Given the description of an element on the screen output the (x, y) to click on. 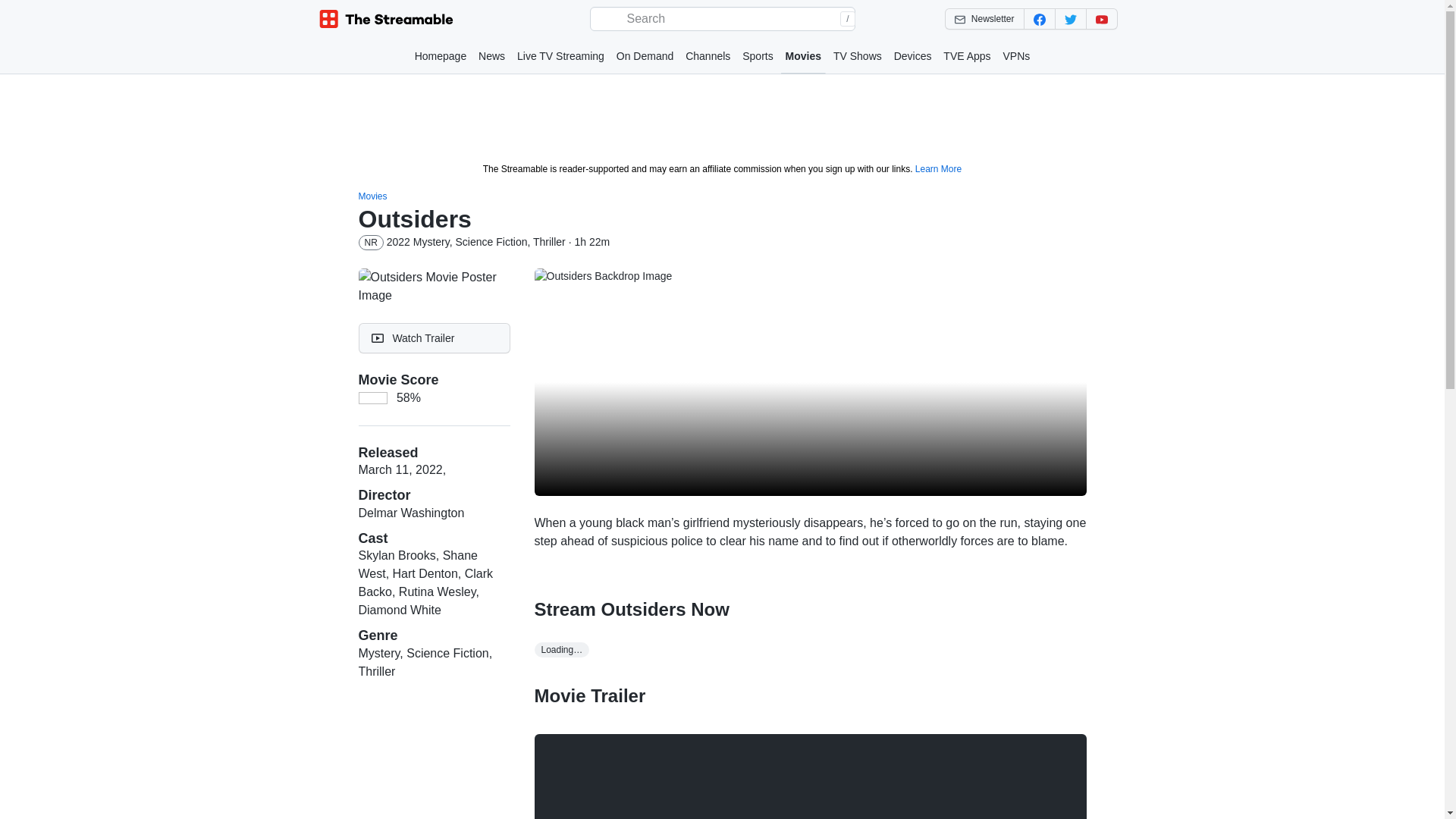
Twitter (1070, 18)
Newsletter (983, 18)
The Streamable (387, 19)
On Demand (644, 56)
Homepage (440, 56)
Live TV Streaming (560, 56)
News (491, 56)
Twitter (1070, 18)
Live TV Streaming (560, 56)
